Given the description of an element on the screen output the (x, y) to click on. 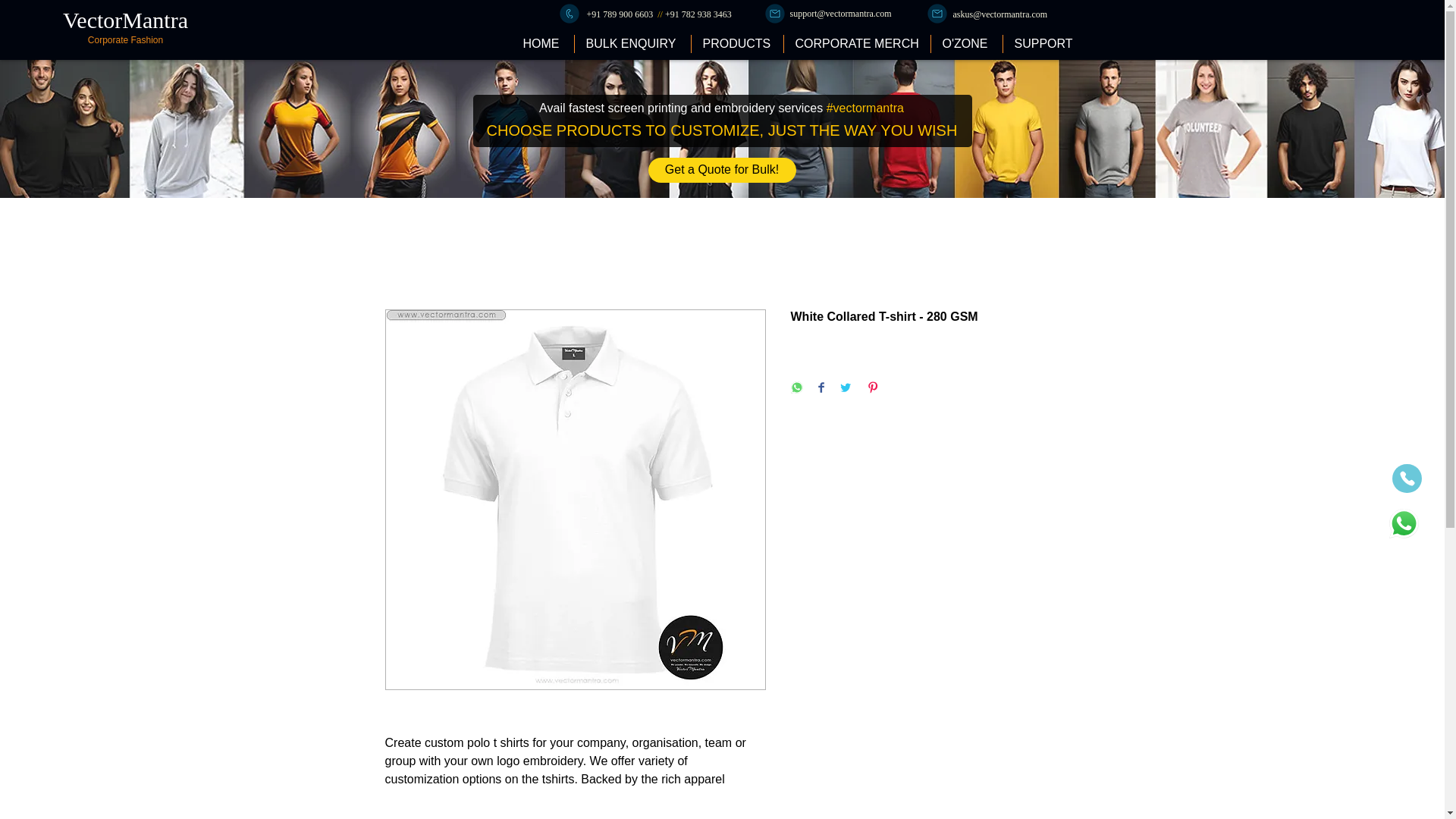
BULK ENQUIRY (631, 44)
Get a Quote for Bulk! (720, 170)
Corporate Fashion (125, 40)
VectorMantra (124, 19)
O'ZONE (965, 44)
Call (568, 13)
HOME (542, 44)
